Given the description of an element on the screen output the (x, y) to click on. 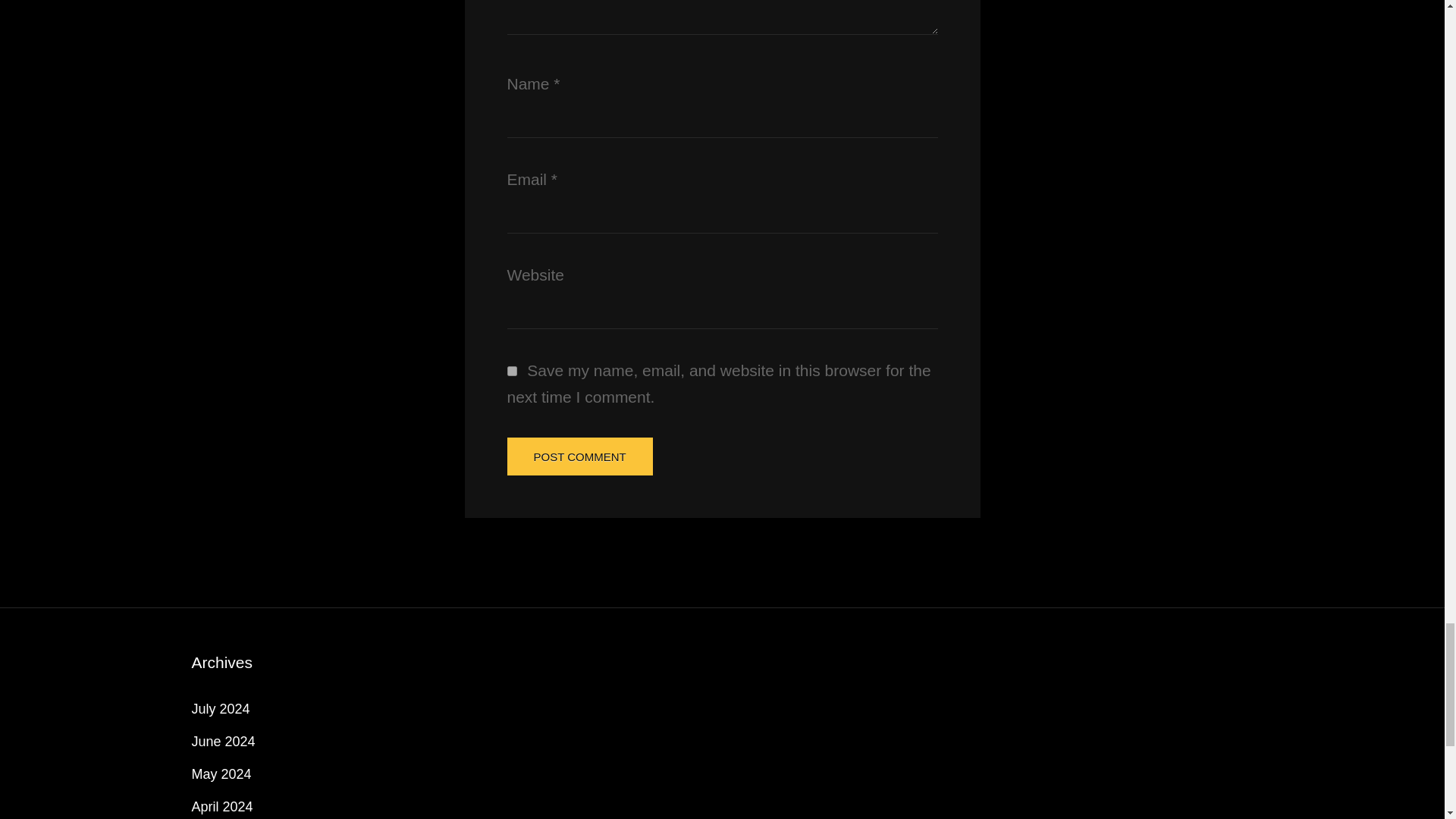
May 2024 (220, 774)
Post Comment (579, 456)
June 2024 (222, 741)
yes (511, 370)
July 2024 (219, 708)
April 2024 (220, 806)
Post Comment (579, 456)
